Given the description of an element on the screen output the (x, y) to click on. 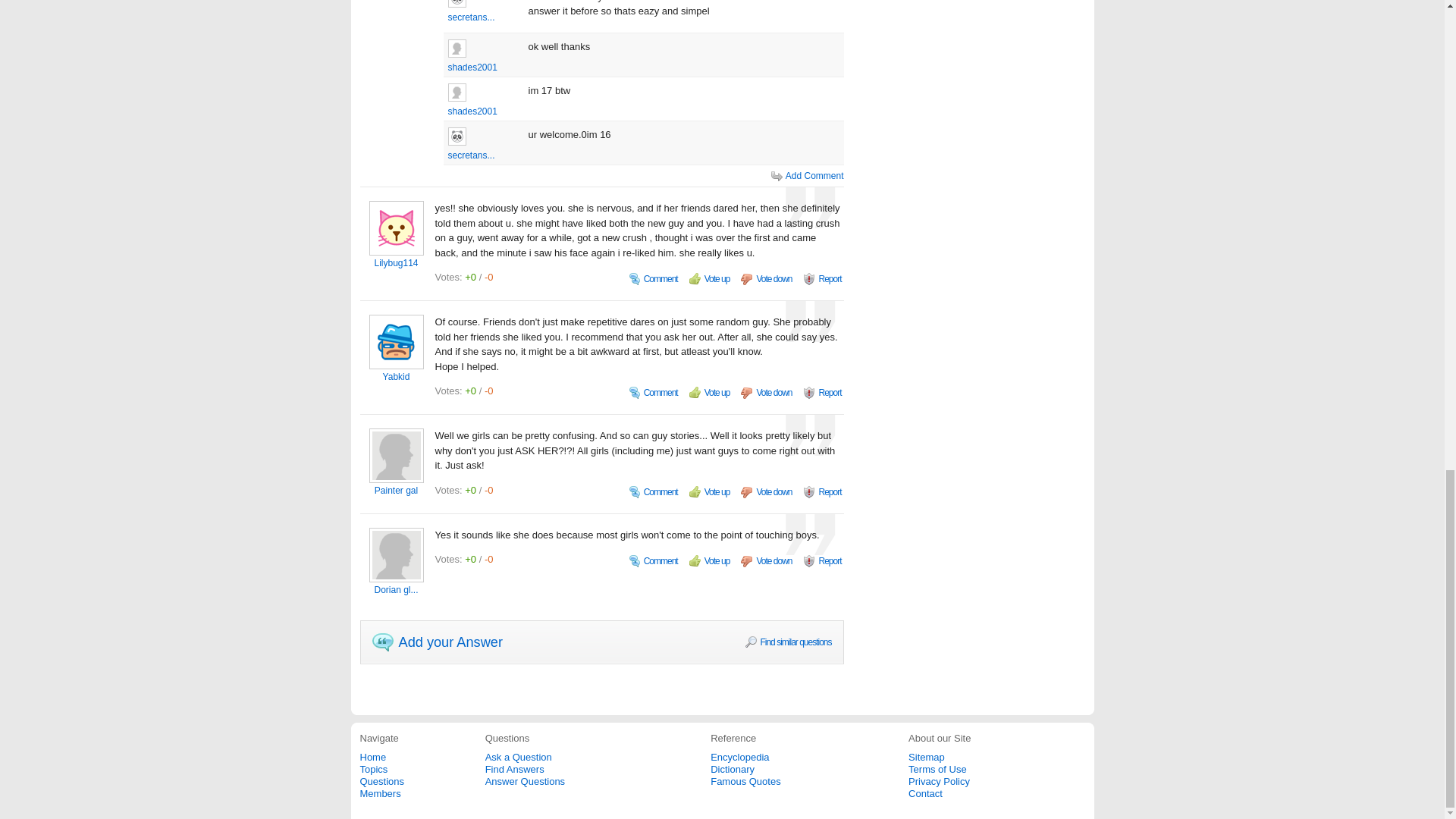
Add a comment to this answer (653, 392)
Add a comment to this answer (653, 491)
Add a comment to this answer (653, 278)
Add a comment to this answer (653, 560)
